Given the description of an element on the screen output the (x, y) to click on. 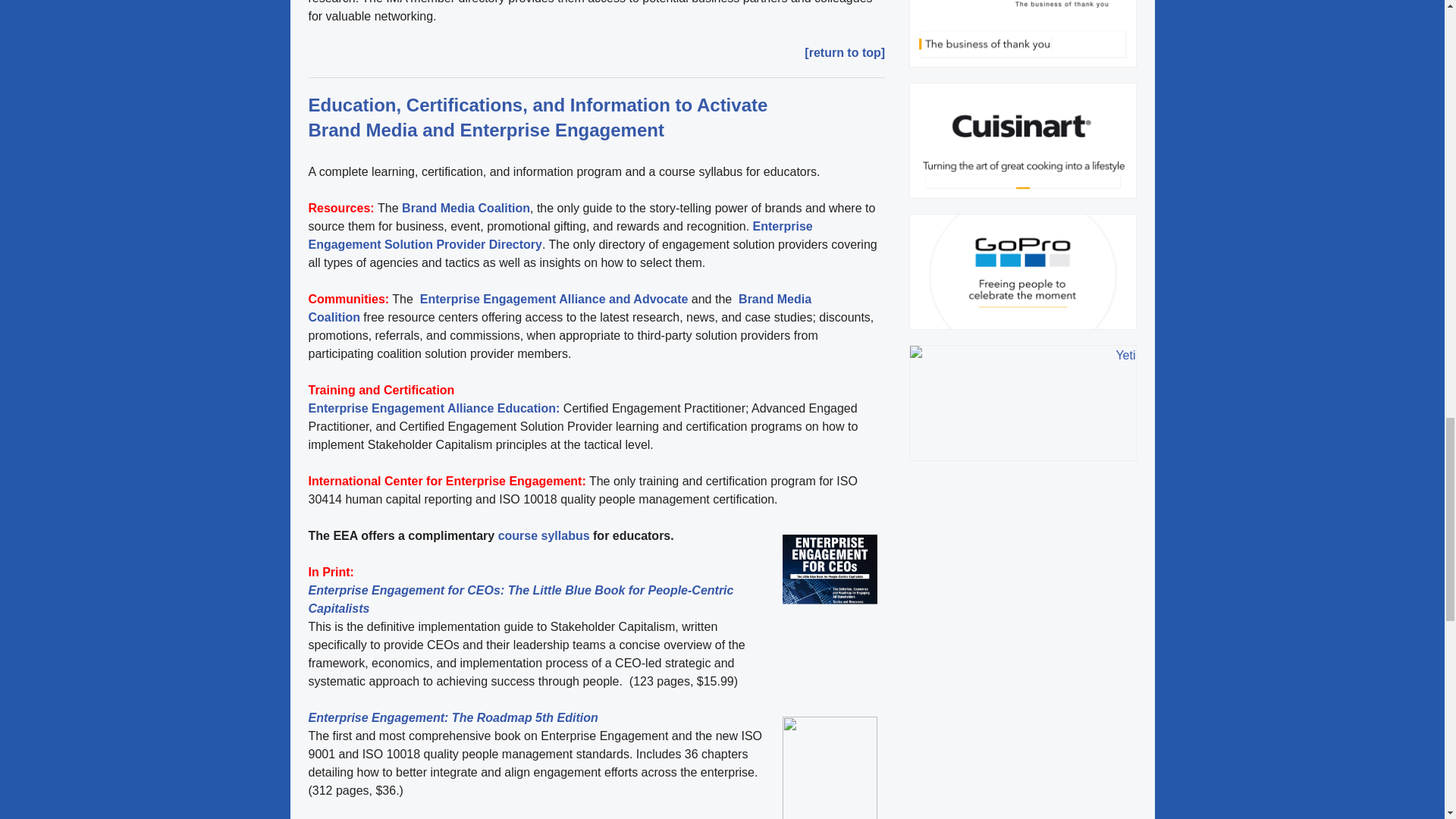
course syllabus (543, 535)
Enterprise Engagement: The Roadmap 5th Edition (451, 717)
Brand Media Coalition (465, 207)
Brand Media Coalition (558, 307)
Enterprise Engagement Alliance Education:  (434, 408)
Enterprise Engagement Solution Provider Directory (559, 235)
International Center for Enterprise Engagement: (446, 481)
 Enterprise Engagement Alliance and Advocate (551, 298)
